Given the description of an element on the screen output the (x, y) to click on. 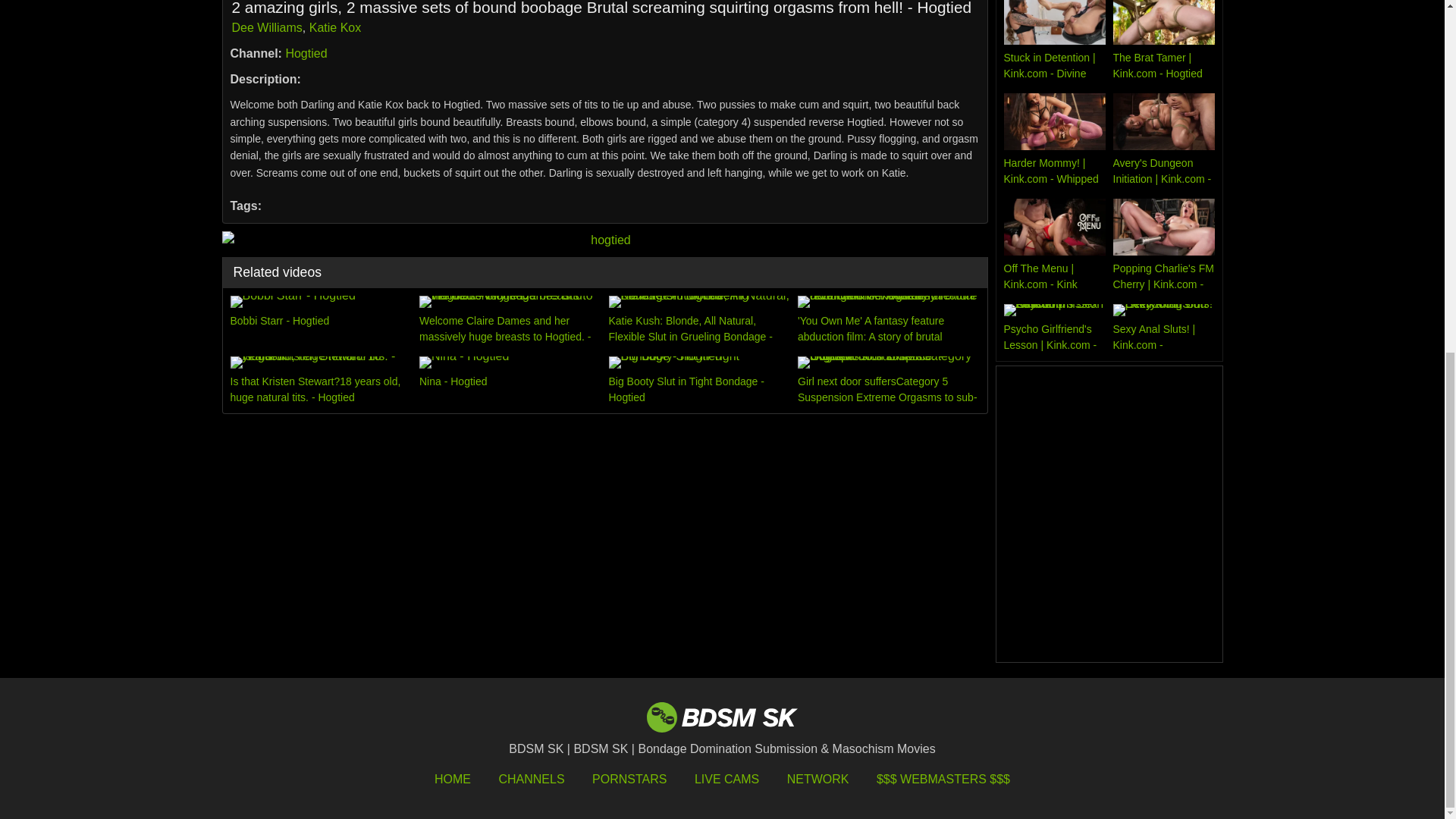
Katie Kox (334, 27)
Dee Williams (266, 27)
Hogtied (305, 52)
